Given the description of an element on the screen output the (x, y) to click on. 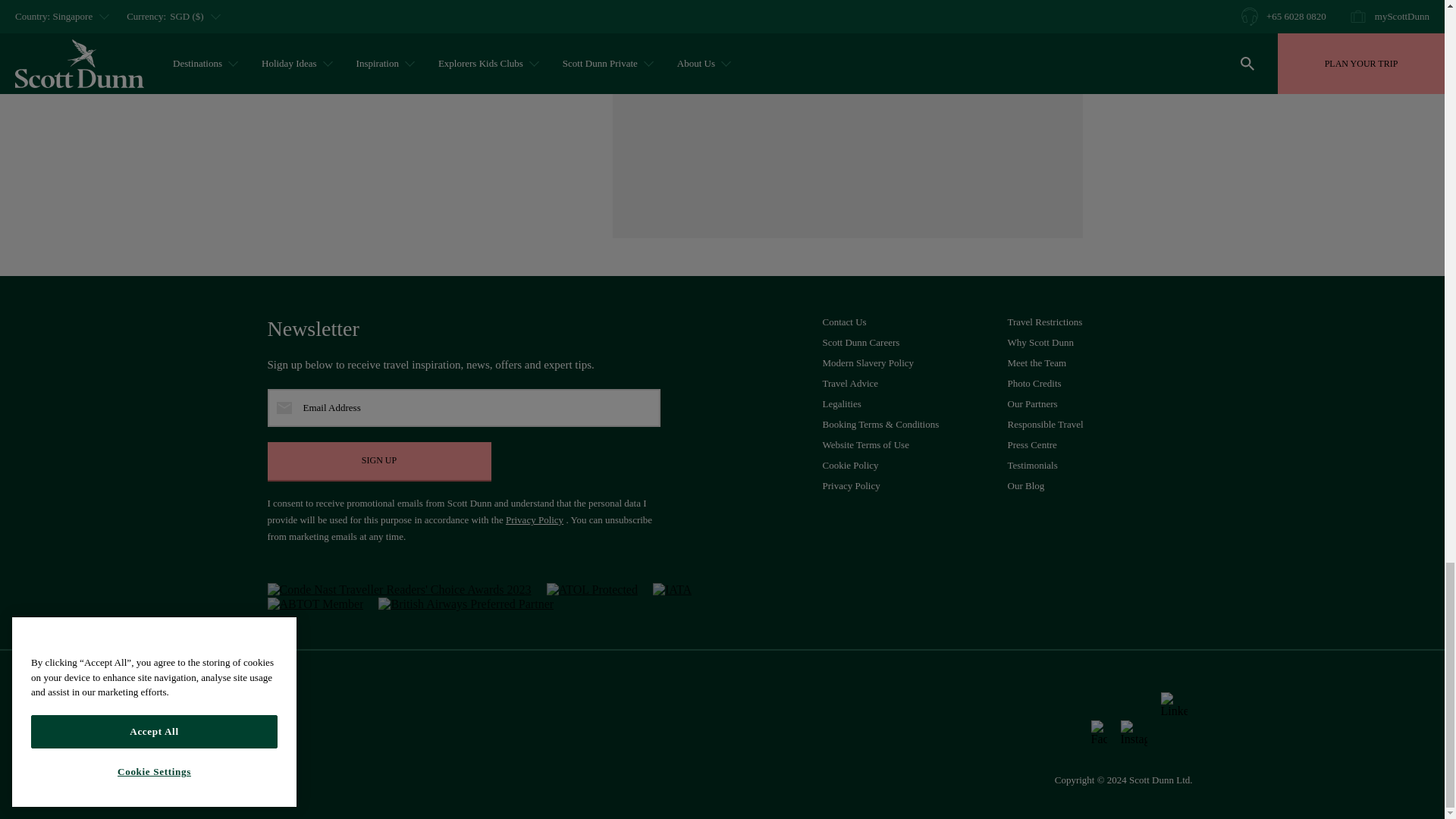
Your email address (463, 407)
